Given the description of an element on the screen output the (x, y) to click on. 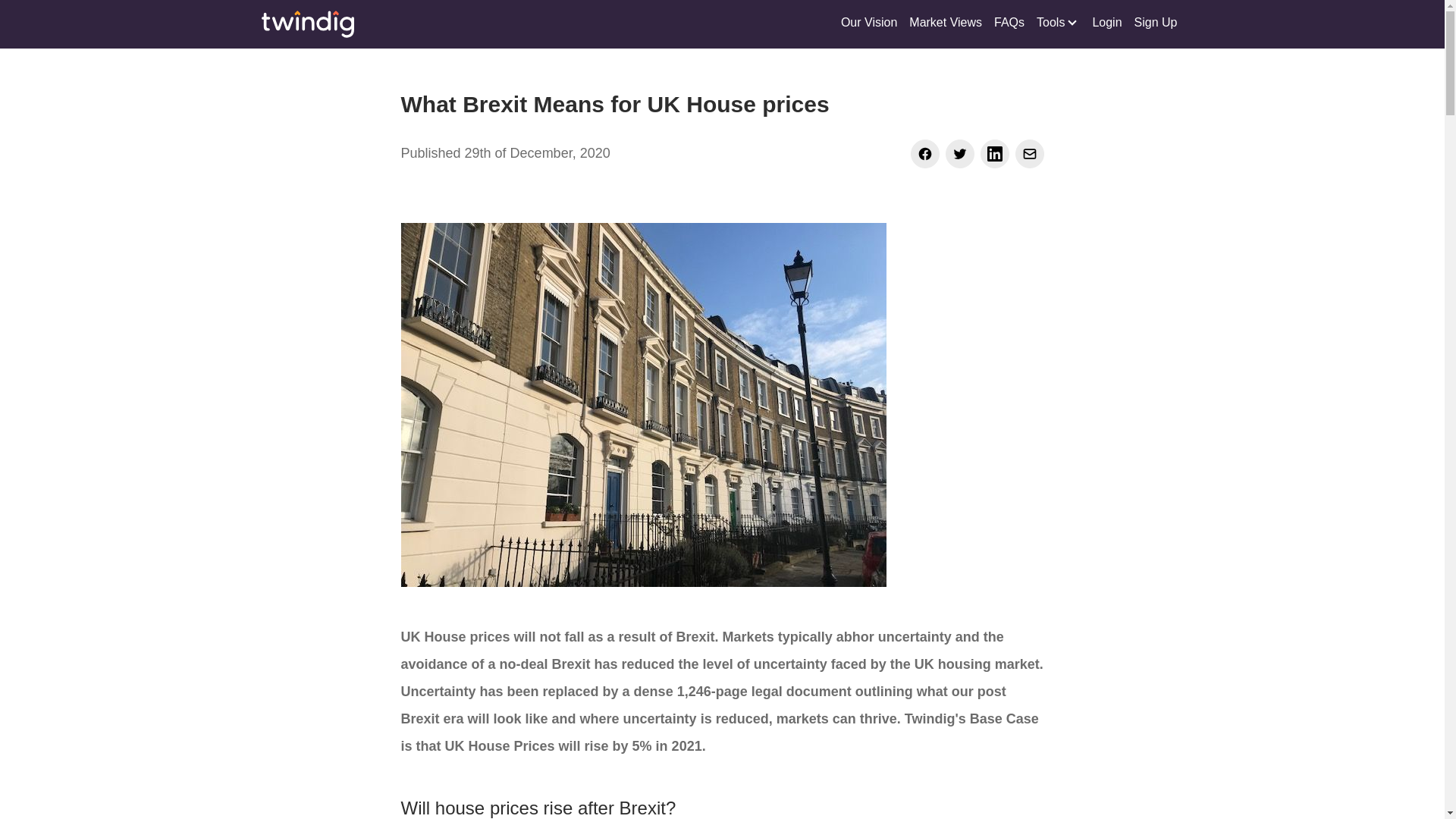
Facebook (924, 153)
LinkedIn (994, 153)
Market Views (945, 24)
Twitter (959, 153)
mail (1028, 153)
Our Vision (868, 24)
Sign Up (1155, 24)
